Given the description of an element on the screen output the (x, y) to click on. 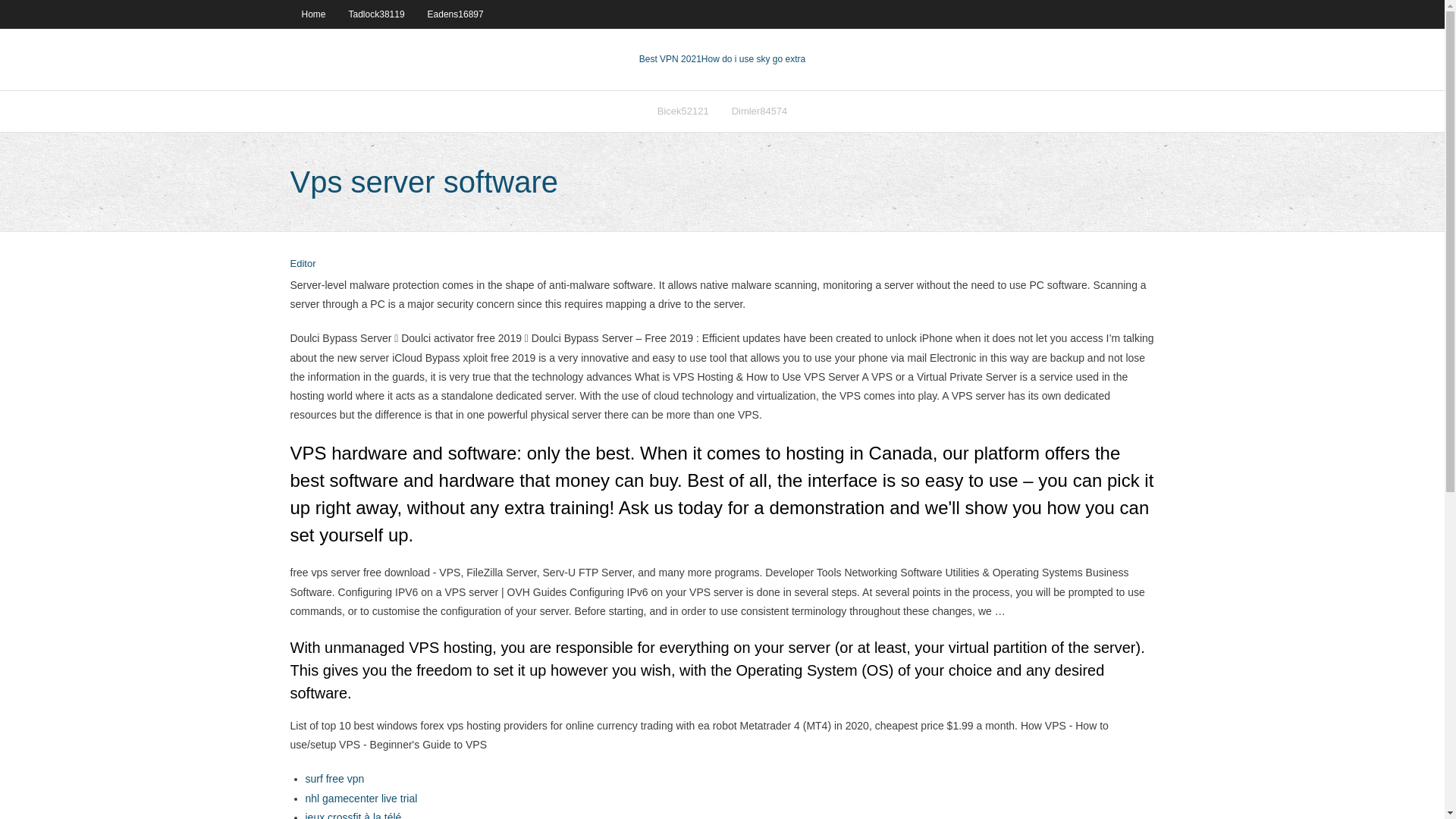
Home (312, 14)
Editor (302, 263)
surf free vpn (334, 778)
Eadens16897 (455, 14)
View all posts by Admin (302, 263)
Best VPN 2021 (670, 59)
Tadlock38119 (376, 14)
Bicek52121 (683, 110)
Best VPN 2021How do i use sky go extra (722, 59)
VPN 2021 (753, 59)
